Given the description of an element on the screen output the (x, y) to click on. 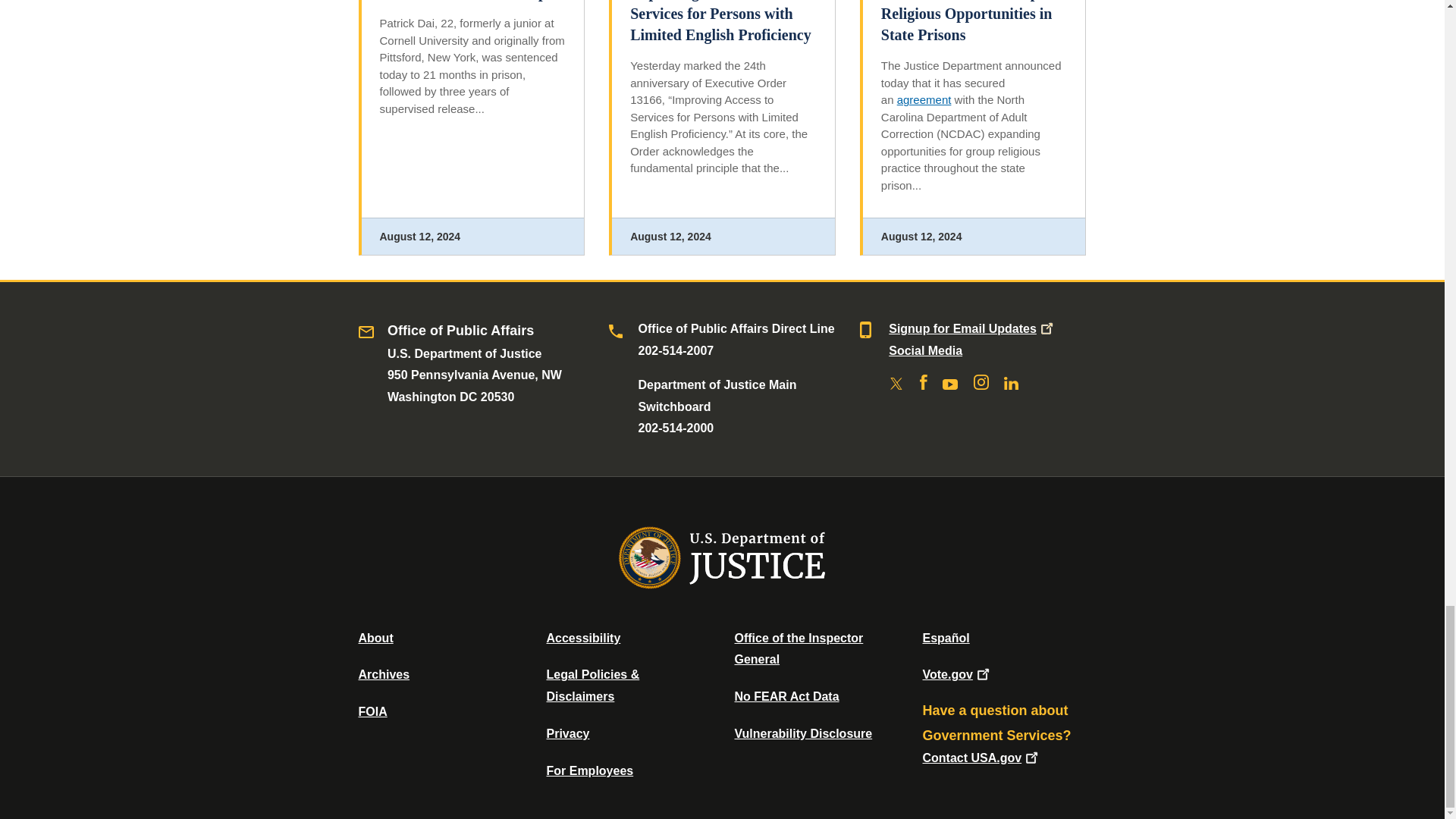
About DOJ (375, 637)
Office of Information Policy (372, 711)
Data Posted Pursuant To The No Fear Act (785, 696)
For Employees (589, 770)
Legal Policies and Disclaimers (592, 685)
Accessibility Statement (583, 637)
Department of Justice Archive (383, 674)
